Given the description of an element on the screen output the (x, y) to click on. 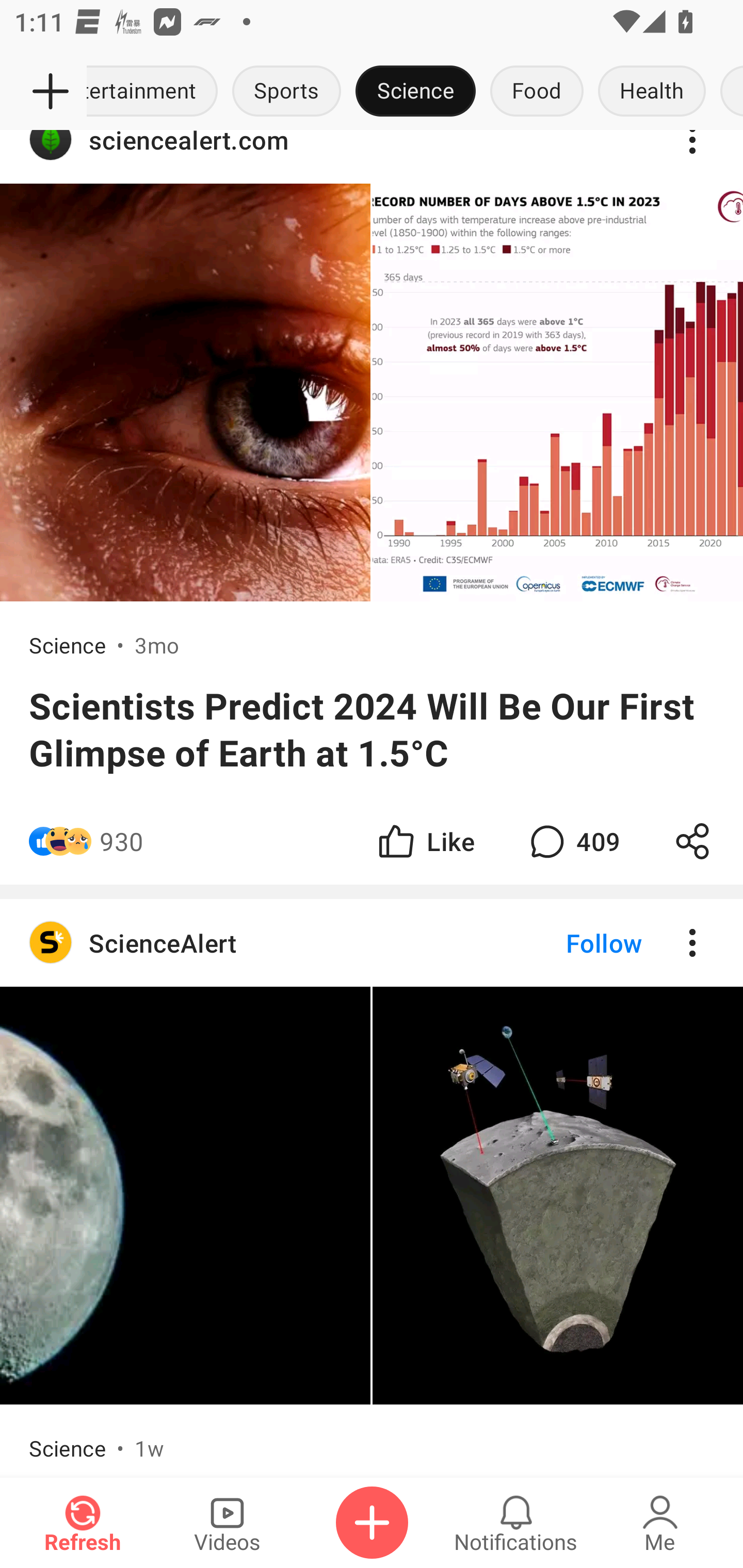
Entertainment (155, 91)
Sports (286, 91)
Science (415, 91)
Food (536, 91)
Health (651, 91)
sciencealert.com (371, 156)
930 (121, 841)
Like (425, 841)
409 (572, 841)
ScienceAlert Follow Science   •  1w (371, 1187)
ScienceAlert Follow (371, 942)
Follow (569, 942)
Videos (227, 1522)
Notifications (516, 1522)
Me (659, 1522)
